Given the description of an element on the screen output the (x, y) to click on. 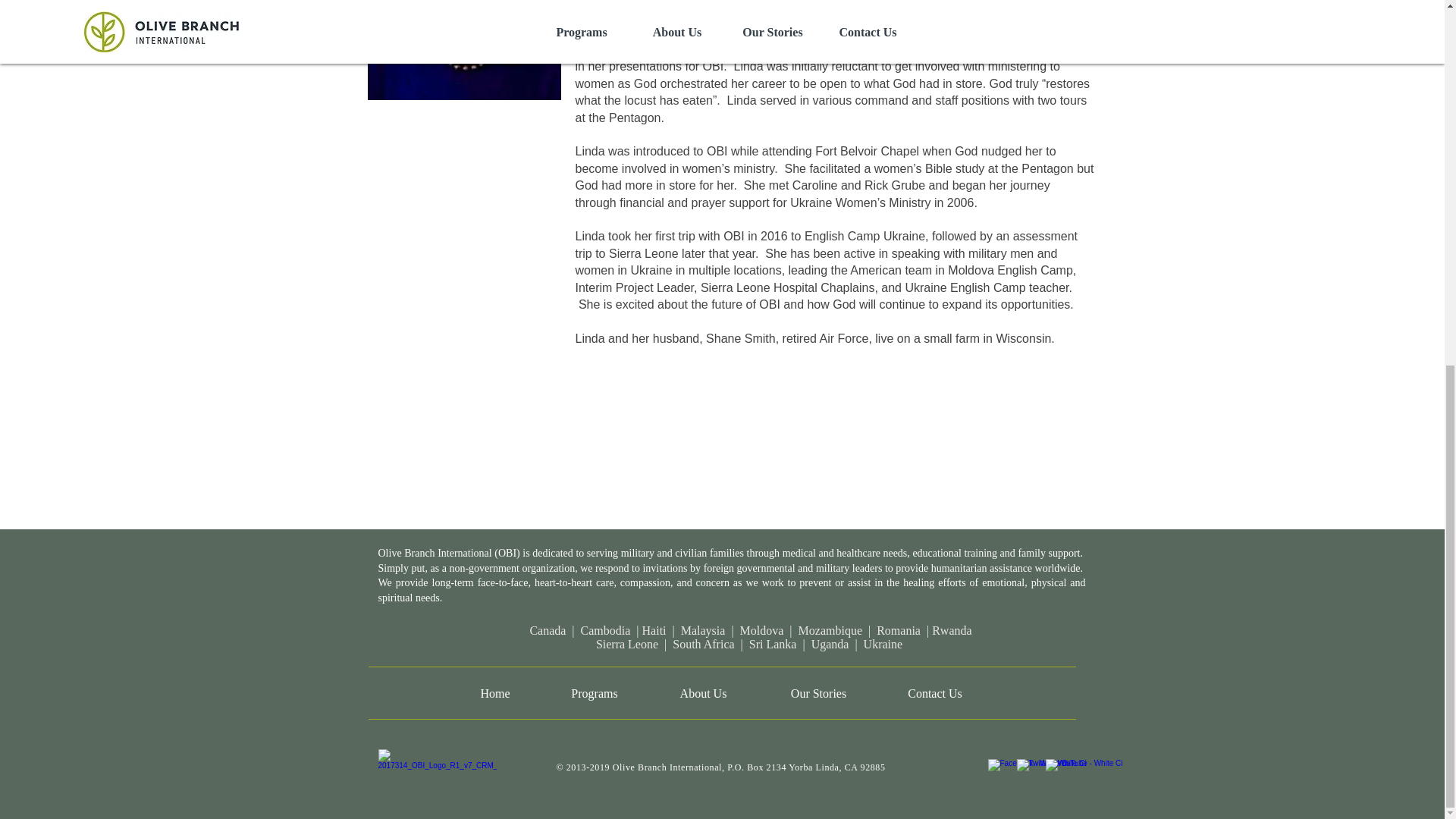
Our Stories (817, 693)
About Us (702, 693)
Home (494, 693)
Programs (593, 693)
Contact Us (934, 693)
